Given the description of an element on the screen output the (x, y) to click on. 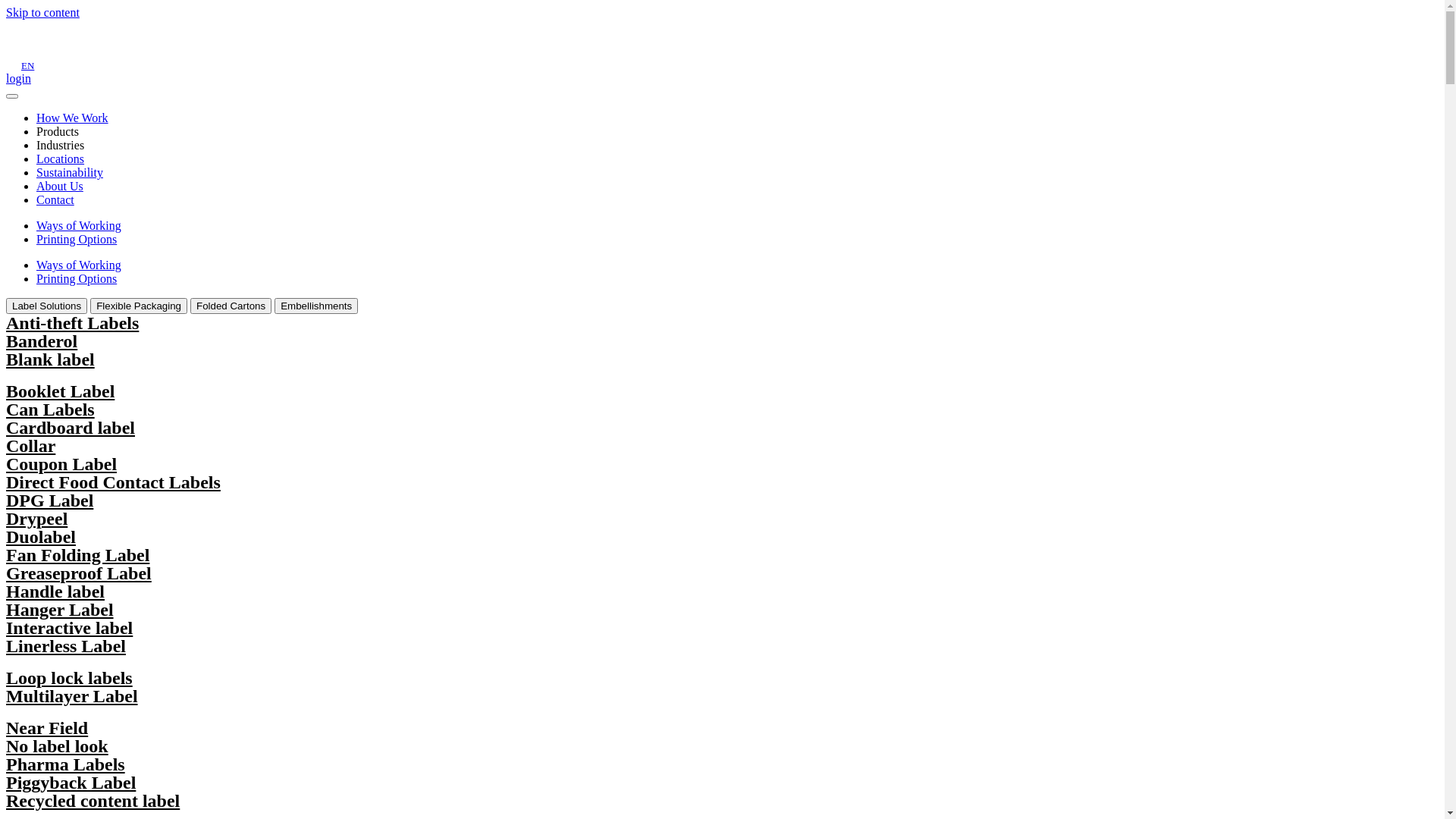
Handle label Element type: text (55, 591)
Flexible Packaging Element type: text (138, 305)
Collar Element type: text (30, 445)
Anti-theft Labels Element type: text (72, 322)
Drypeel Element type: text (36, 518)
Linerless Label Element type: text (65, 645)
Direct Food Contact Labels Element type: text (113, 482)
Can Labels Element type: text (50, 409)
Interactive label Element type: text (69, 627)
EN Element type: text (27, 65)
Banderol Element type: text (41, 341)
Sustainability Element type: text (69, 172)
Folded Cartons Element type: text (230, 305)
Ways of Working Element type: text (78, 264)
Loop lock labels Element type: text (69, 677)
Locations Element type: text (60, 158)
Coupon Label Element type: text (61, 463)
Pharma Labels Element type: text (65, 764)
Greaseproof Label Element type: text (78, 573)
Blank label Element type: text (50, 359)
Contact Element type: text (55, 199)
Piggyback Label Element type: text (70, 782)
How We Work Element type: text (72, 117)
Ways of Working Element type: text (78, 225)
About Us Element type: text (59, 185)
Duolabel Element type: text (40, 536)
No label look Element type: text (57, 746)
Printing Options Element type: text (76, 238)
Hanger Label Element type: text (59, 609)
Booklet Label Element type: text (60, 391)
Skip to content Element type: text (42, 12)
Embellishments Element type: text (315, 305)
login Element type: text (18, 78)
Near Field Element type: text (46, 727)
Multilayer Label Element type: text (72, 696)
Printing Options Element type: text (76, 278)
DPG Label Element type: text (49, 500)
Cardboard label Element type: text (70, 427)
Fan Folding Label Element type: text (77, 554)
Recycled content label Element type: text (92, 800)
Label Solutions Element type: text (46, 305)
